Given the description of an element on the screen output the (x, y) to click on. 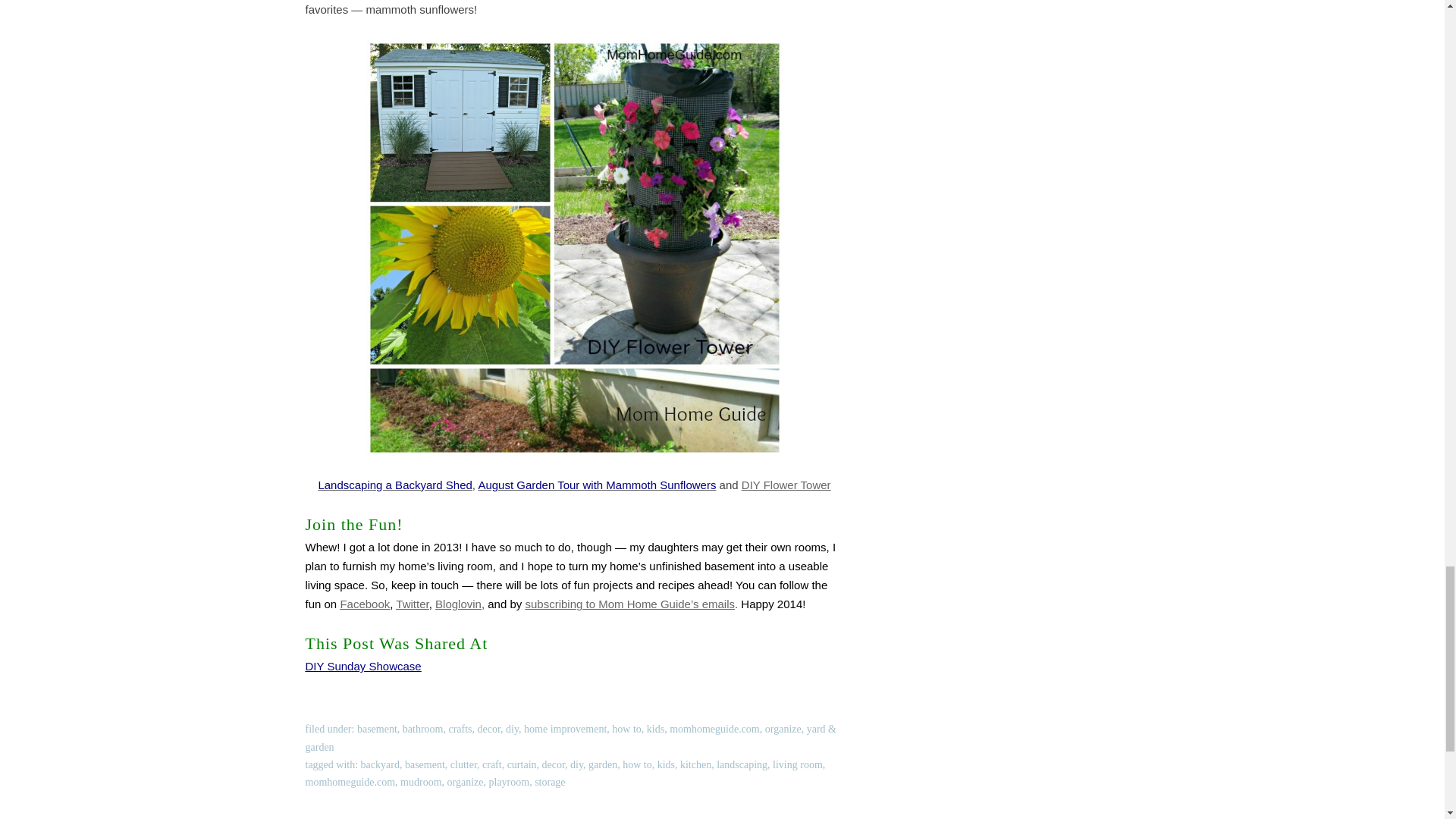
Facebook (364, 603)
Bloglovin (458, 603)
basement (376, 728)
Twitter (412, 603)
DIY Flower Tower (786, 484)
August Garden Tour with Mammoth Sunflowers (596, 484)
DIY Sunday Showcase (362, 666)
Landscaping a Backyard Shed (394, 484)
